Given the description of an element on the screen output the (x, y) to click on. 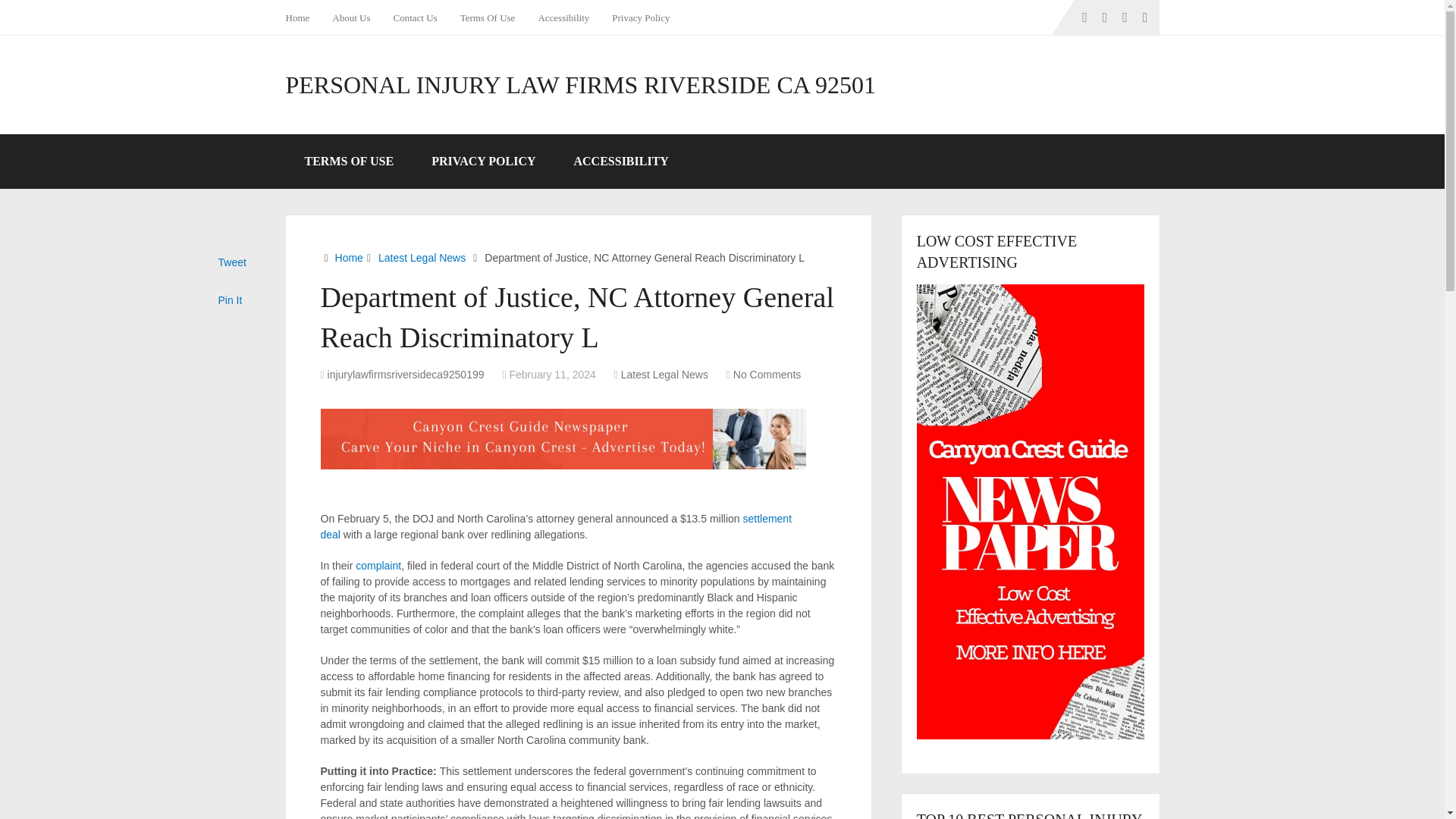
Latest Legal News (664, 374)
Latest Legal News (421, 257)
PERSONAL INJURY LAW FIRMS RIVERSIDE CA 92501 (580, 84)
complaint (378, 565)
View all posts in Latest Legal News (664, 374)
Home (348, 257)
Accessibility (562, 17)
Terms Of Use (487, 17)
No Comments (766, 374)
About Us (350, 17)
settlement deal (556, 526)
Privacy Policy (640, 17)
ACCESSIBILITY (620, 161)
injurylawfirmsriversideca9250199 (405, 374)
TERMS OF USE (348, 161)
